Given the description of an element on the screen output the (x, y) to click on. 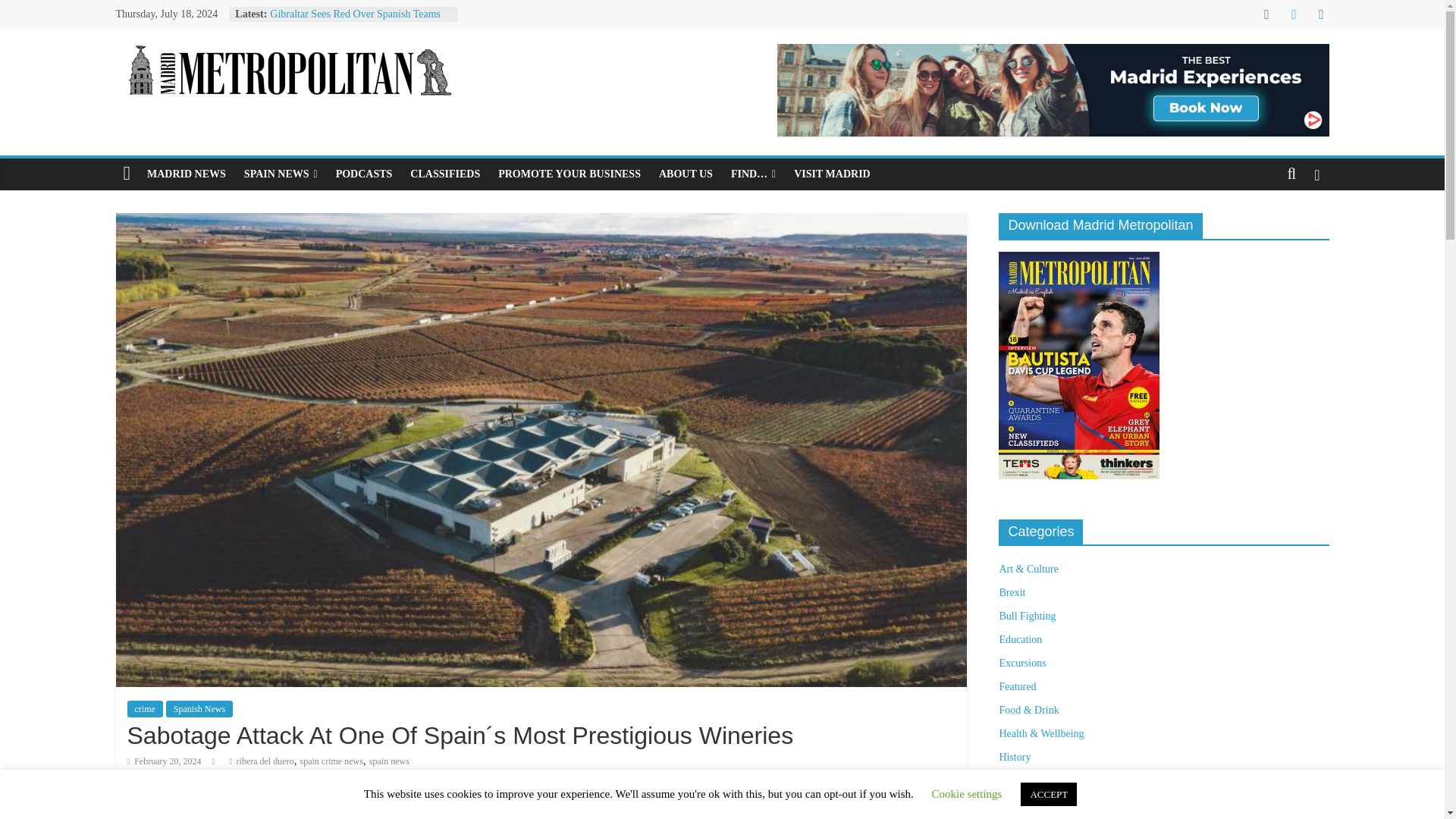
ABOUT US (685, 174)
Gibraltar Sees Red Over Spanish Teams Victory Chant (355, 21)
MADRID NEWS (186, 174)
PODCASTS (363, 174)
CLASSIFIEDS (445, 174)
1:49 pm (165, 760)
Gibraltar Sees Red Over Spanish Teams Victory Chant (355, 21)
SPAIN NEWS (280, 174)
PROMOTE YOUR BUSINESS (569, 174)
